Given the description of an element on the screen output the (x, y) to click on. 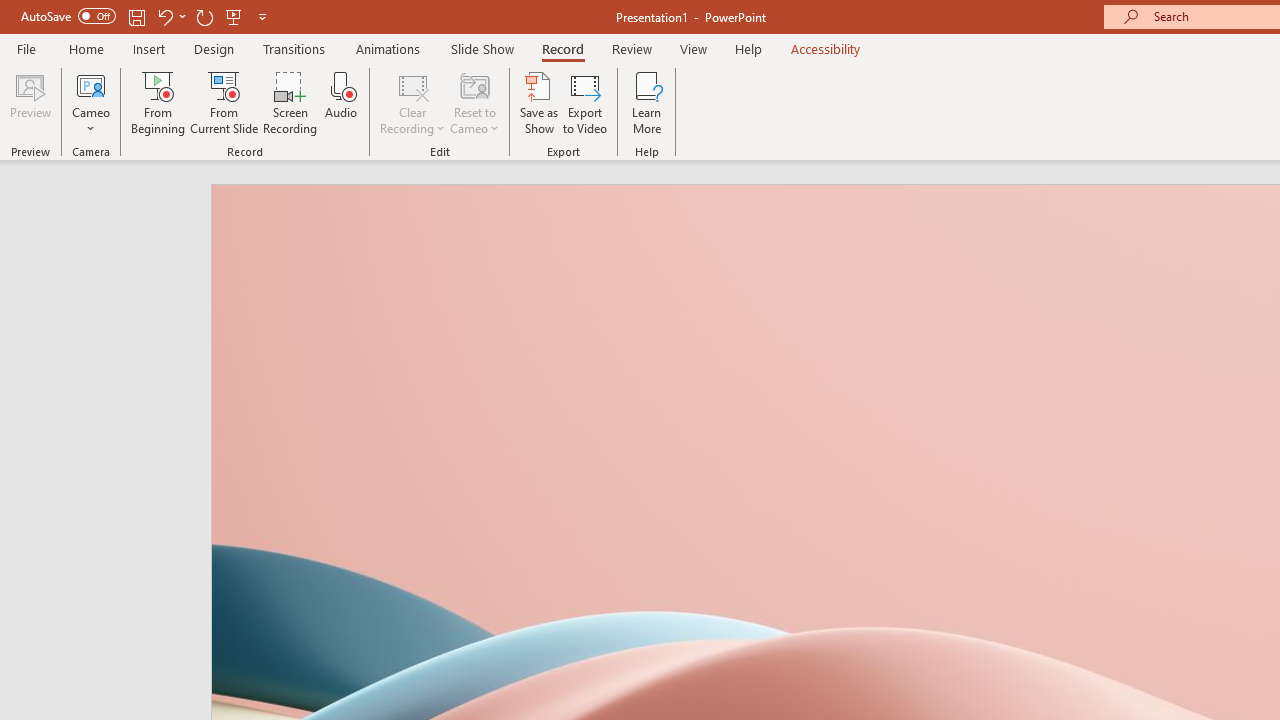
Clear Recording (412, 102)
Save as Show (539, 102)
